Given the description of an element on the screen output the (x, y) to click on. 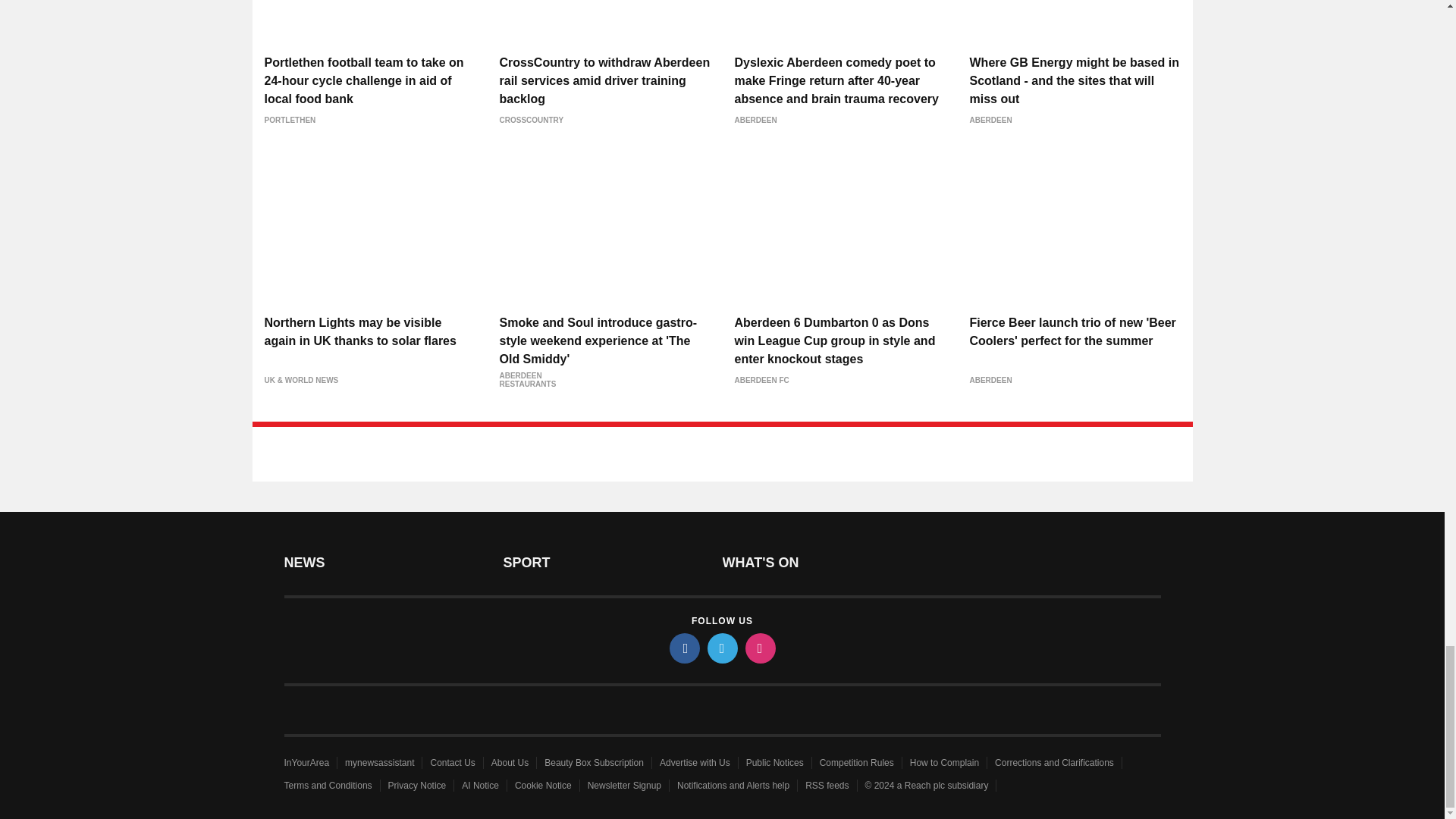
facebook (683, 648)
instagram (759, 648)
twitter (721, 648)
